Given the description of an element on the screen output the (x, y) to click on. 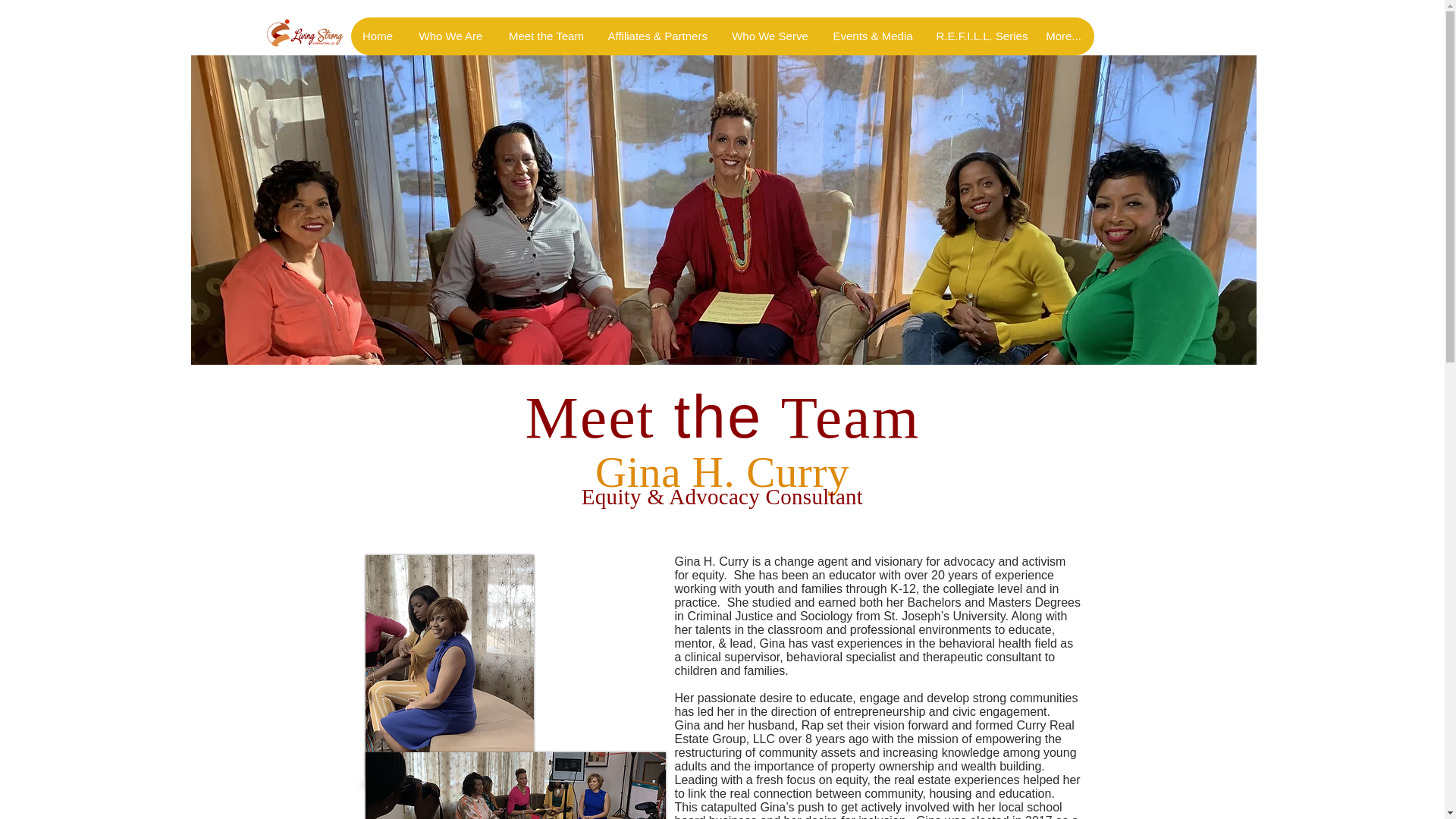
Who We Are (450, 36)
Who We Serve (770, 36)
Meet the Team (545, 36)
R.E.F.I.L.L. Series (977, 36)
Home (377, 36)
